Given the description of an element on the screen output the (x, y) to click on. 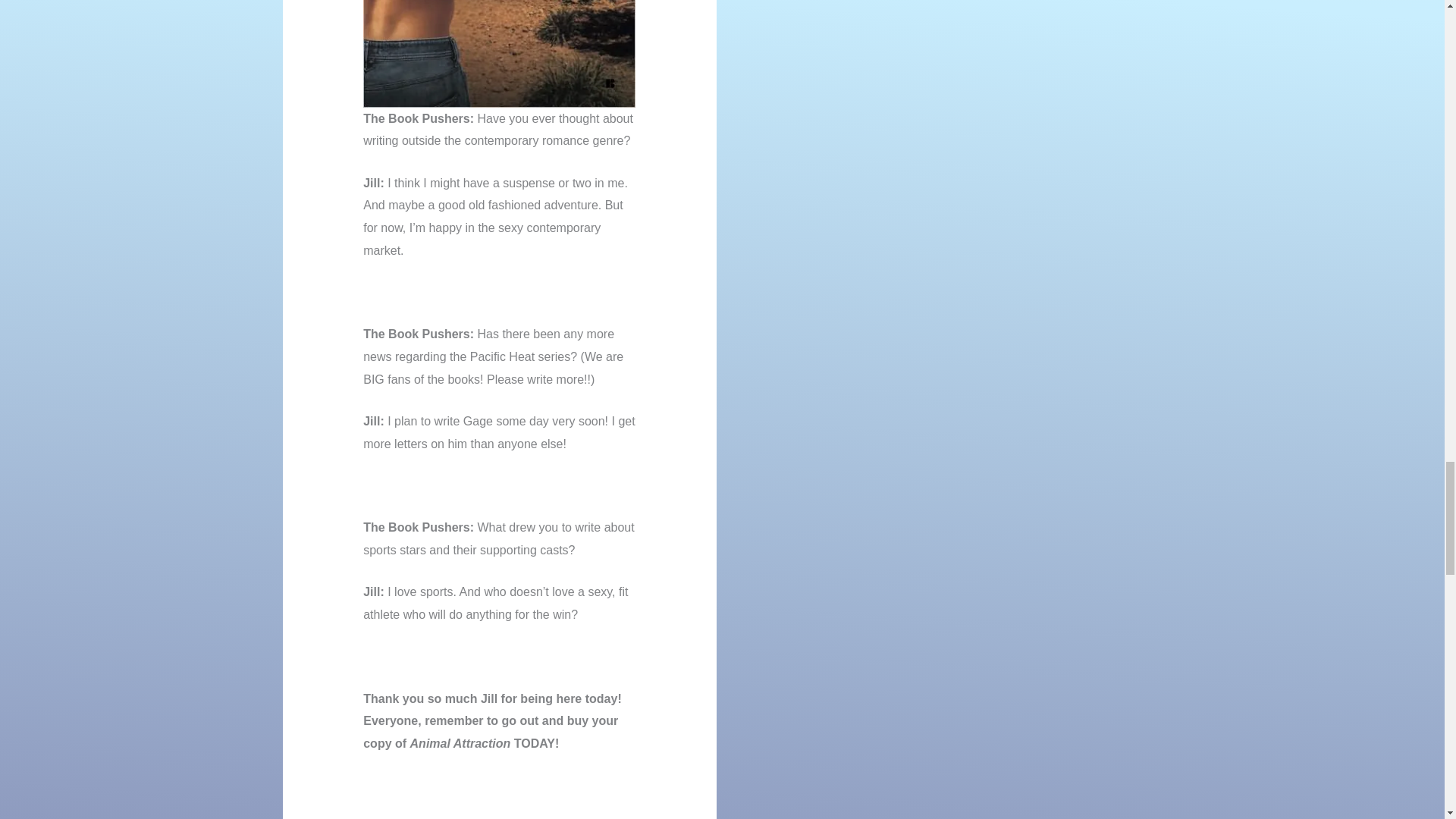
animal manetish (498, 53)
